Given the description of an element on the screen output the (x, y) to click on. 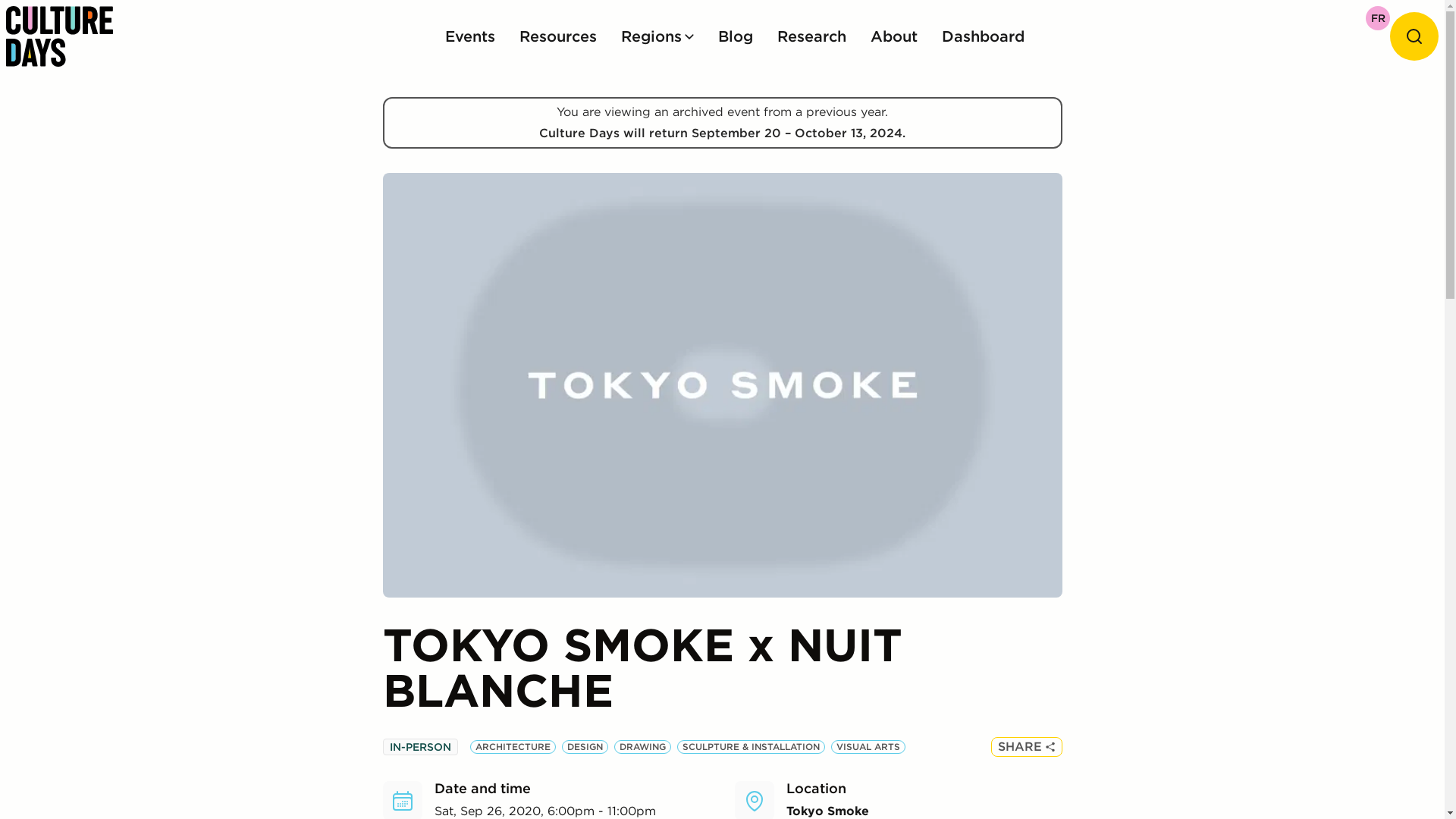
Resources (557, 35)
Events (469, 35)
Search (1414, 36)
Regions (656, 35)
